Given the description of an element on the screen output the (x, y) to click on. 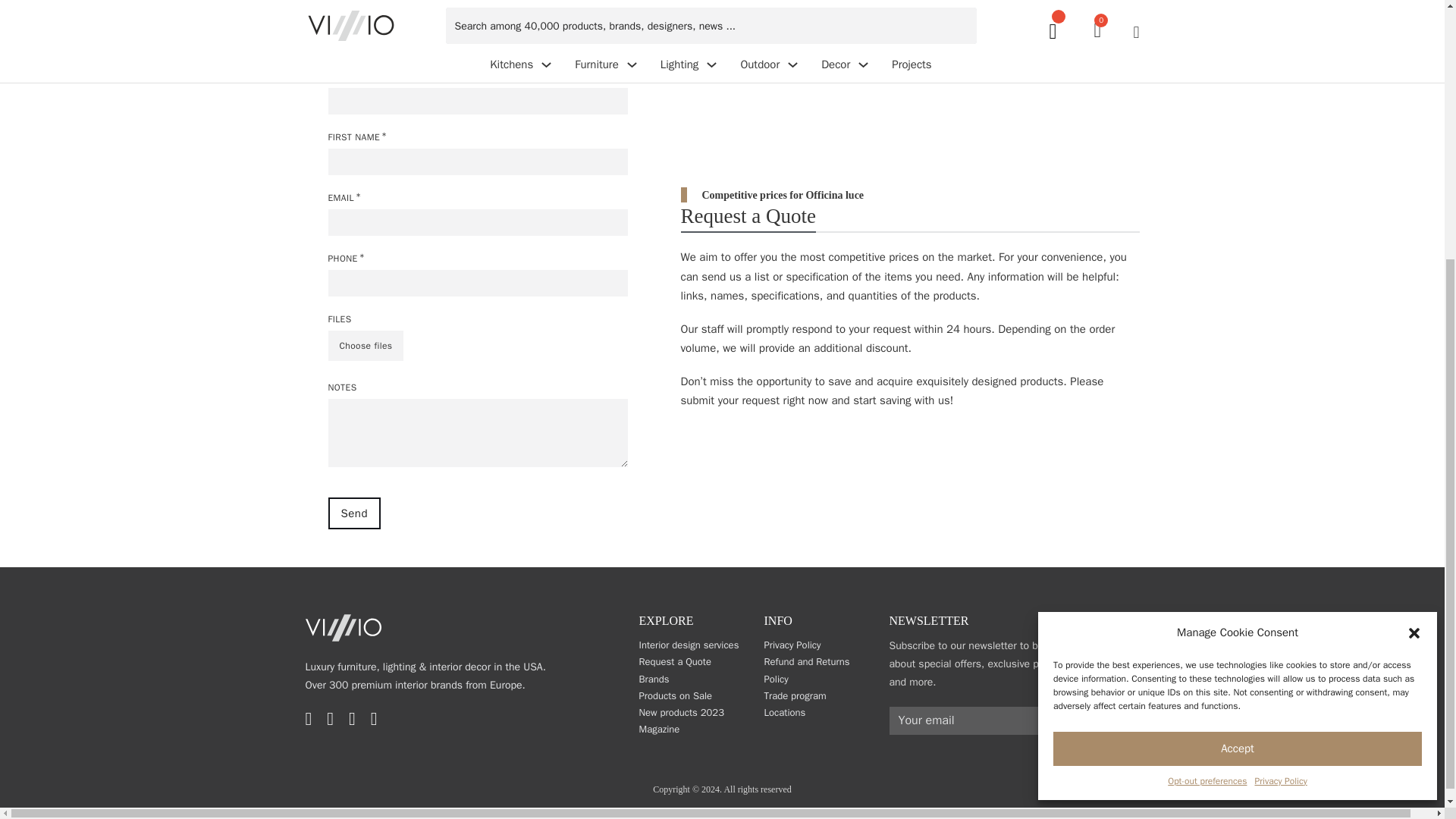
Opt-out preferences (1206, 401)
Privacy Policy (1279, 401)
Accept (1237, 369)
